Given the description of an element on the screen output the (x, y) to click on. 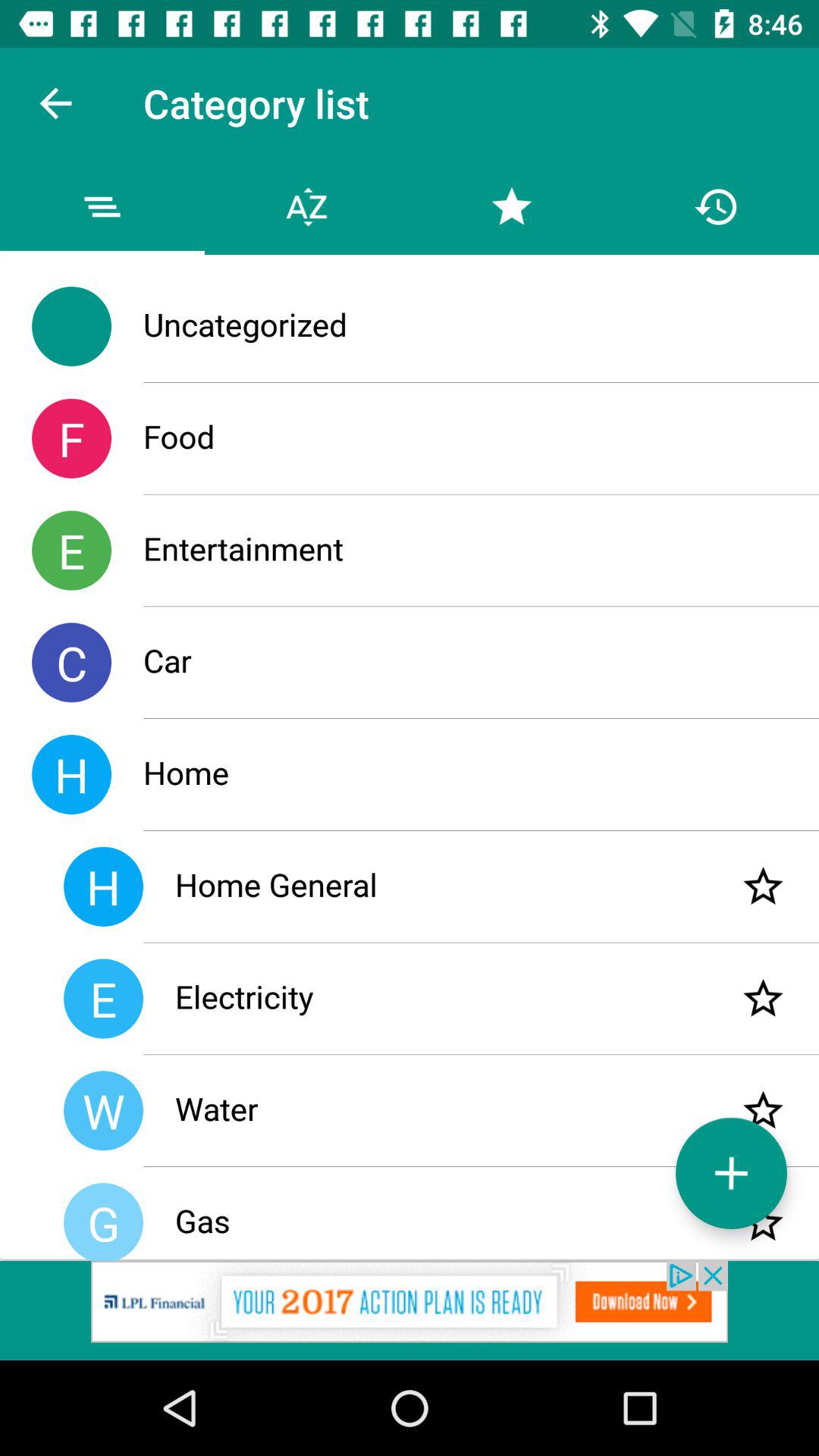
add as favorite (763, 998)
